Given the description of an element on the screen output the (x, y) to click on. 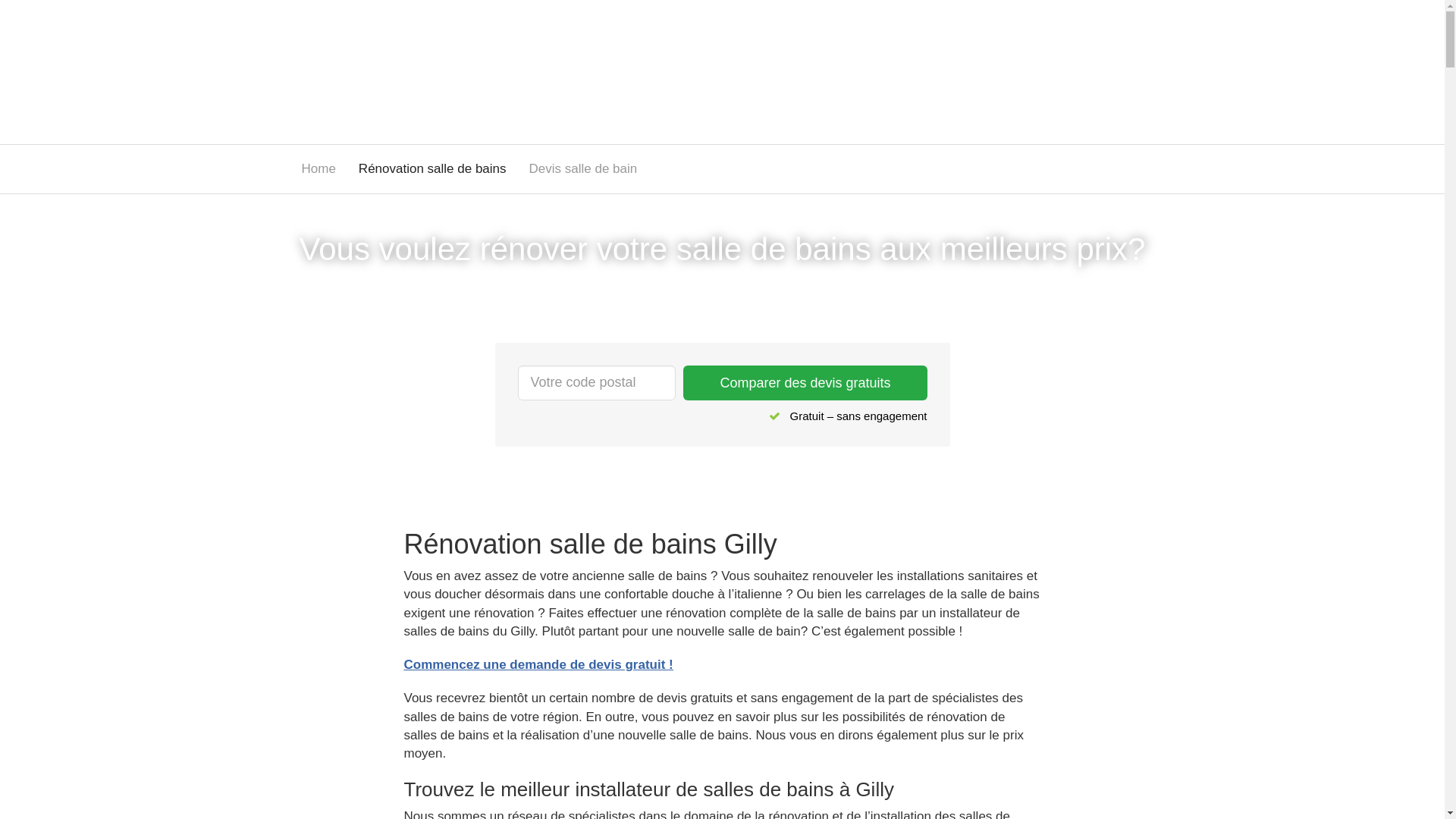
Comparer des devis gratuits Element type: text (804, 382)
Devis salle de bain Element type: text (583, 168)
AM Construction Element type: hover (403, 69)
Commencez une demande de devis gratuit ! Element type: text (537, 664)
Home Element type: text (317, 168)
